Given the description of an element on the screen output the (x, y) to click on. 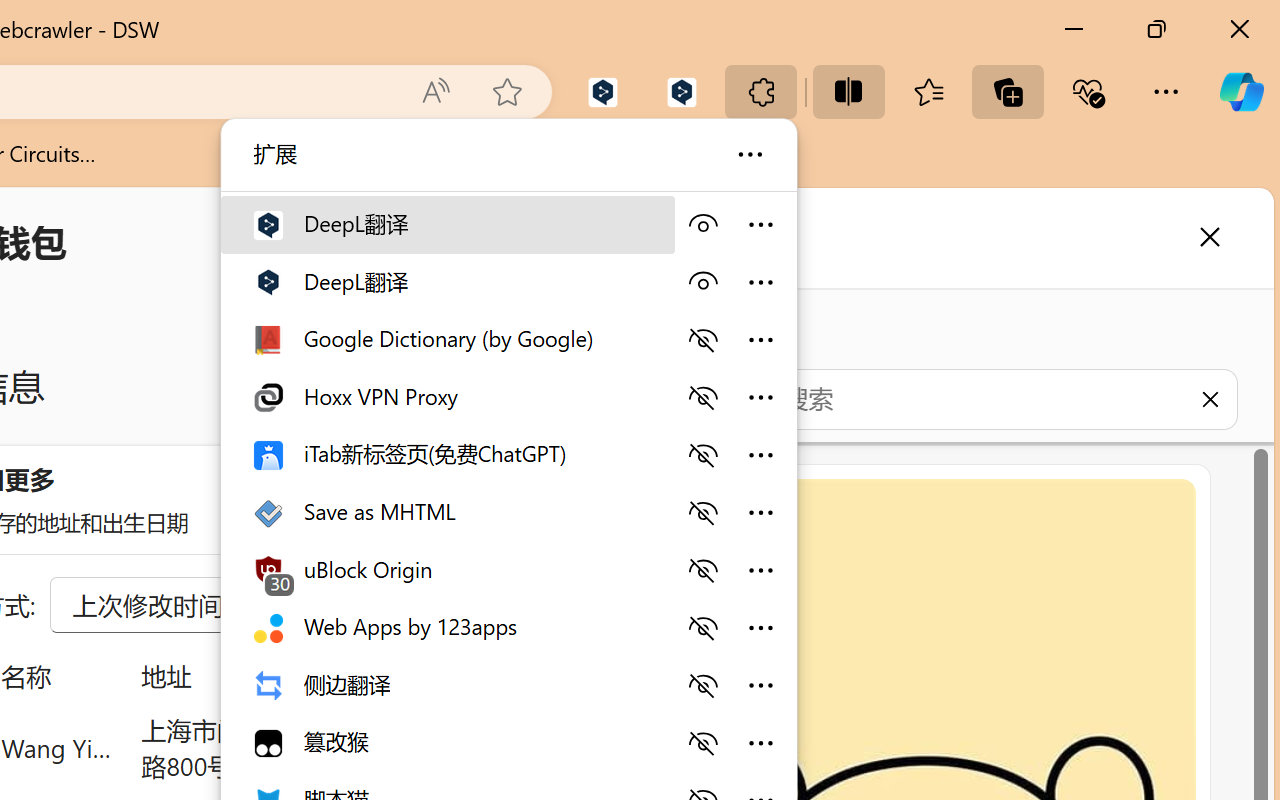
Copilot (Ctrl+Shift+.) (1241, 91)
